Given the description of an element on the screen output the (x, y) to click on. 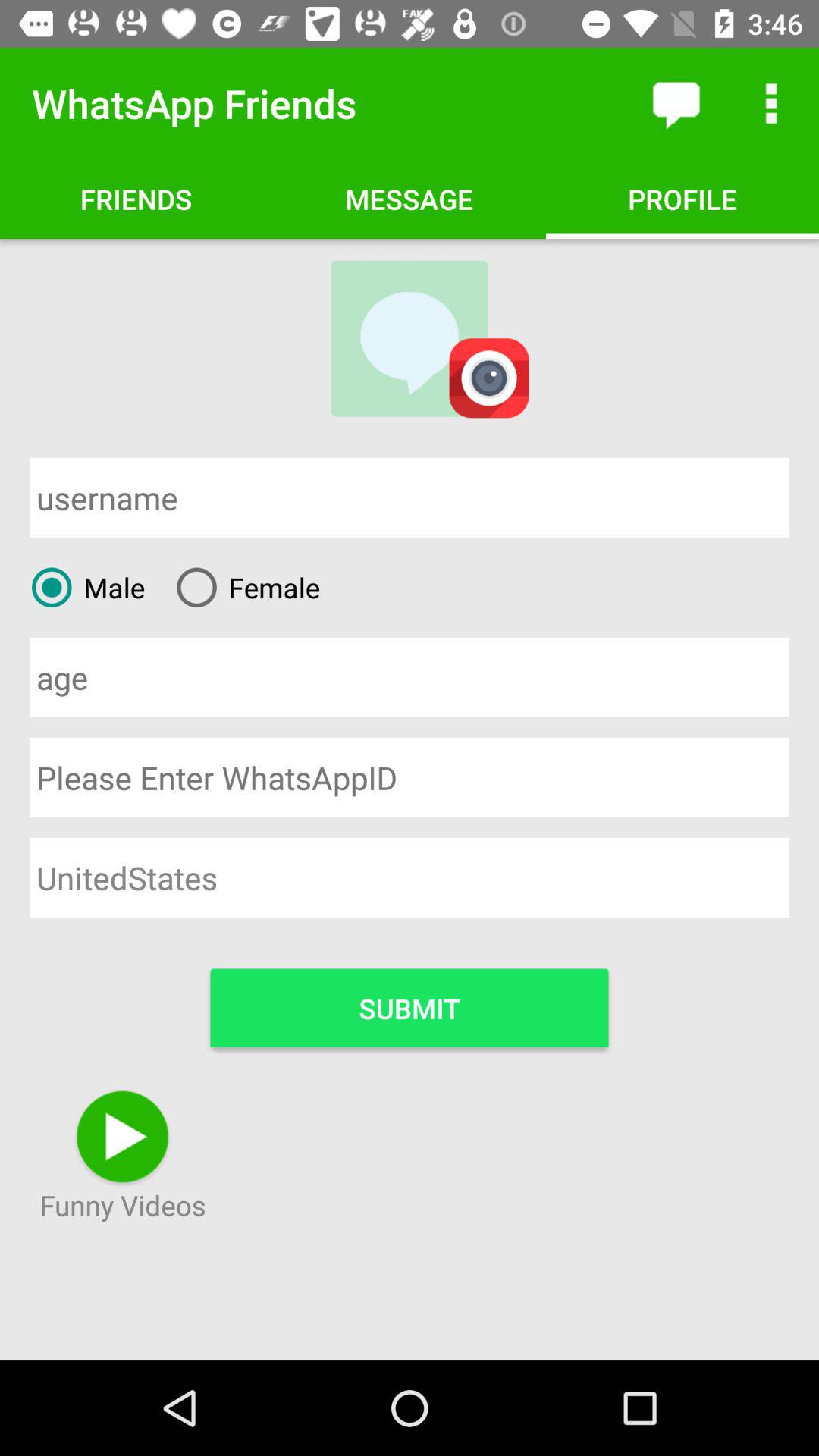
send message friend (675, 103)
